Given the description of an element on the screen output the (x, y) to click on. 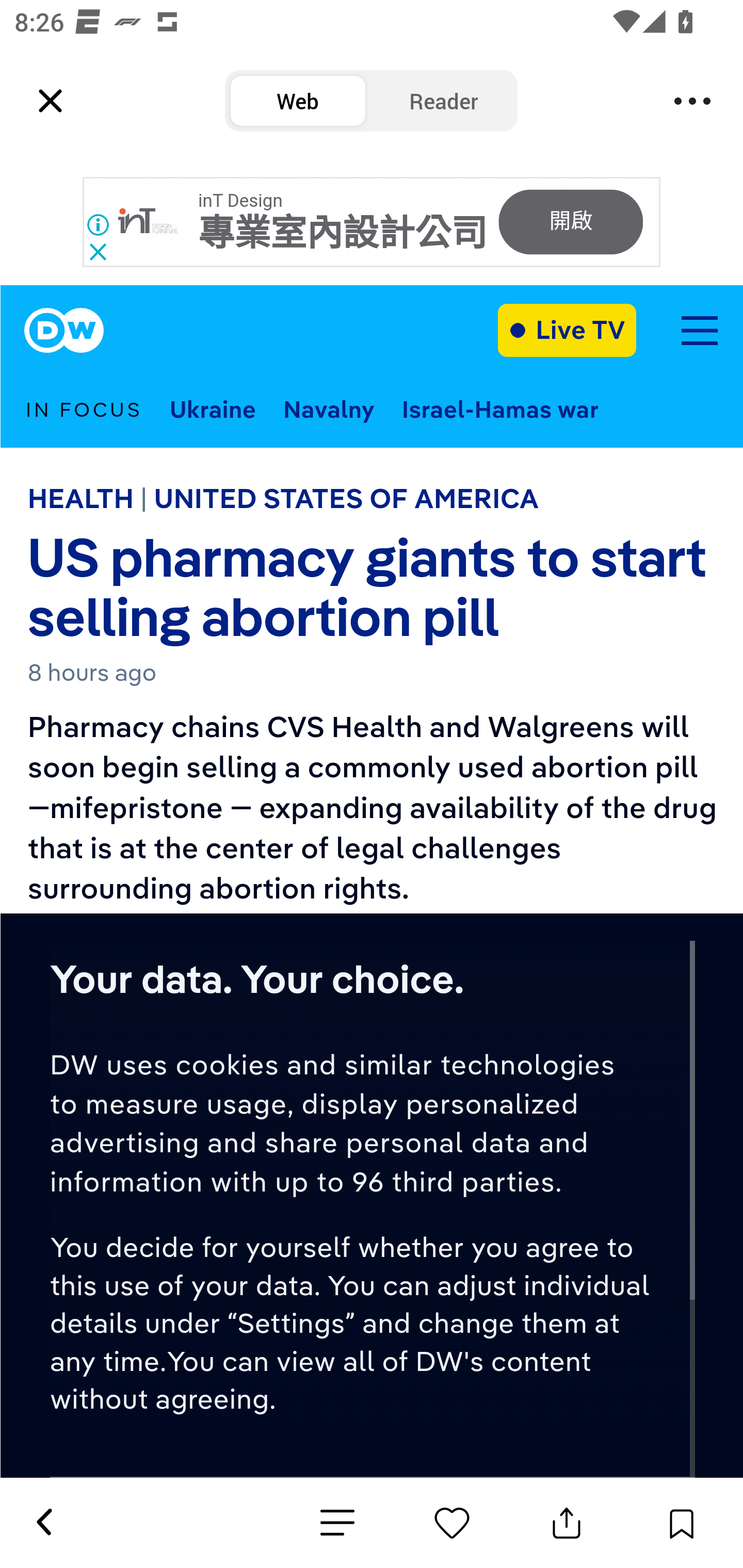
Leading Icon (50, 101)
Reader (443, 101)
Menu (692, 101)
開啟 inT Design 專業室內設計公司 開啟 inT Design 專業室內設計公司 (371, 222)
Open main navigation (699, 330)
Live TV (567, 329)
dw.com home - Made for minds (63, 330)
Ukraine (212, 409)
Navalny (328, 409)
Israel-Hamas war (500, 409)
HEALTH (80, 497)
UNITED STATES OF AMERICA (346, 497)
Back Button (43, 1523)
News Detail Emotion (451, 1523)
Share Button (566, 1523)
Save Button (680, 1523)
News Detail Emotion (337, 1523)
